Given the description of an element on the screen output the (x, y) to click on. 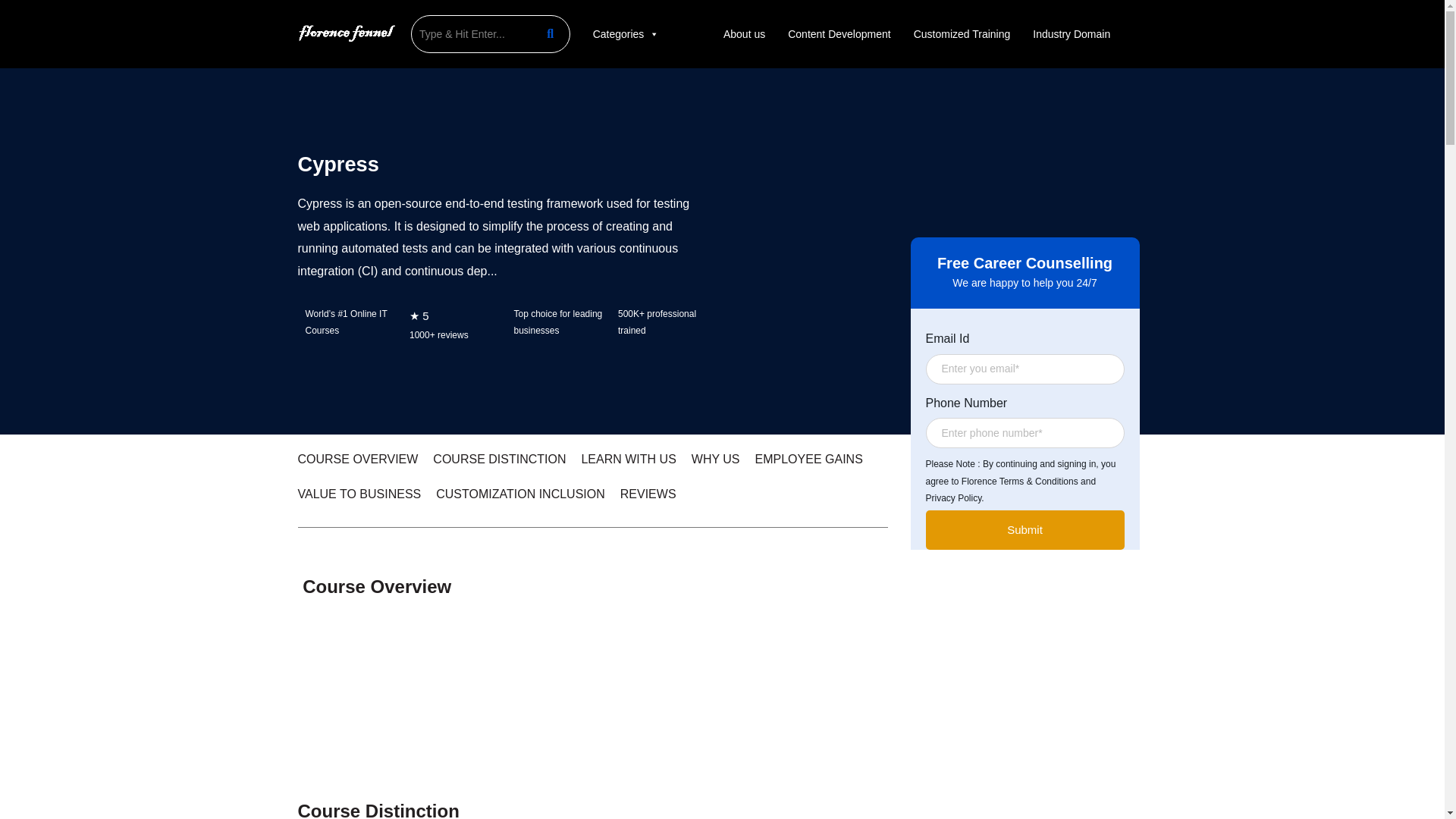
Categories (625, 33)
Search (471, 33)
Submit (1024, 529)
